Given the description of an element on the screen output the (x, y) to click on. 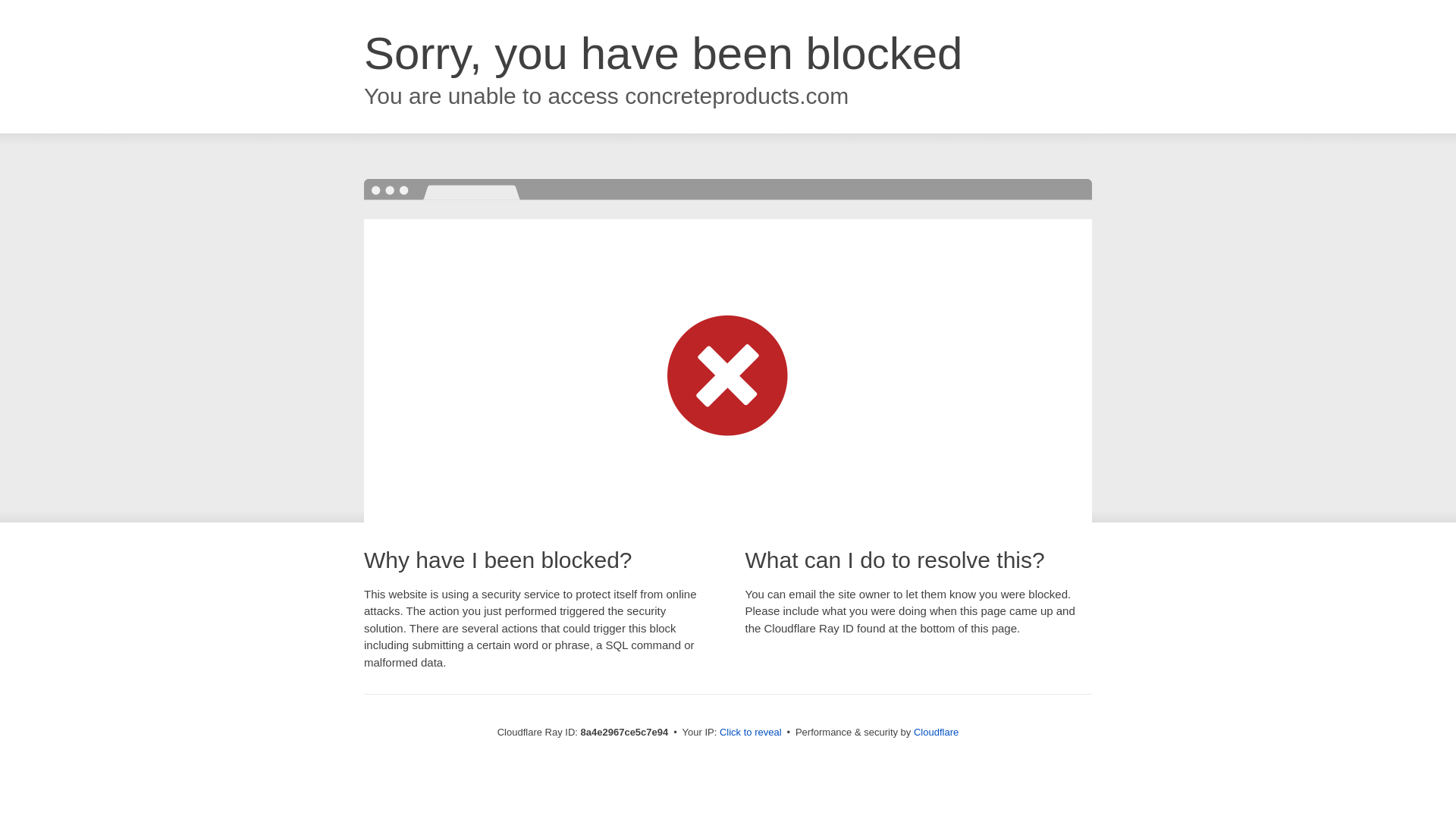
Click to reveal (750, 732)
Cloudflare (936, 731)
